Given the description of an element on the screen output the (x, y) to click on. 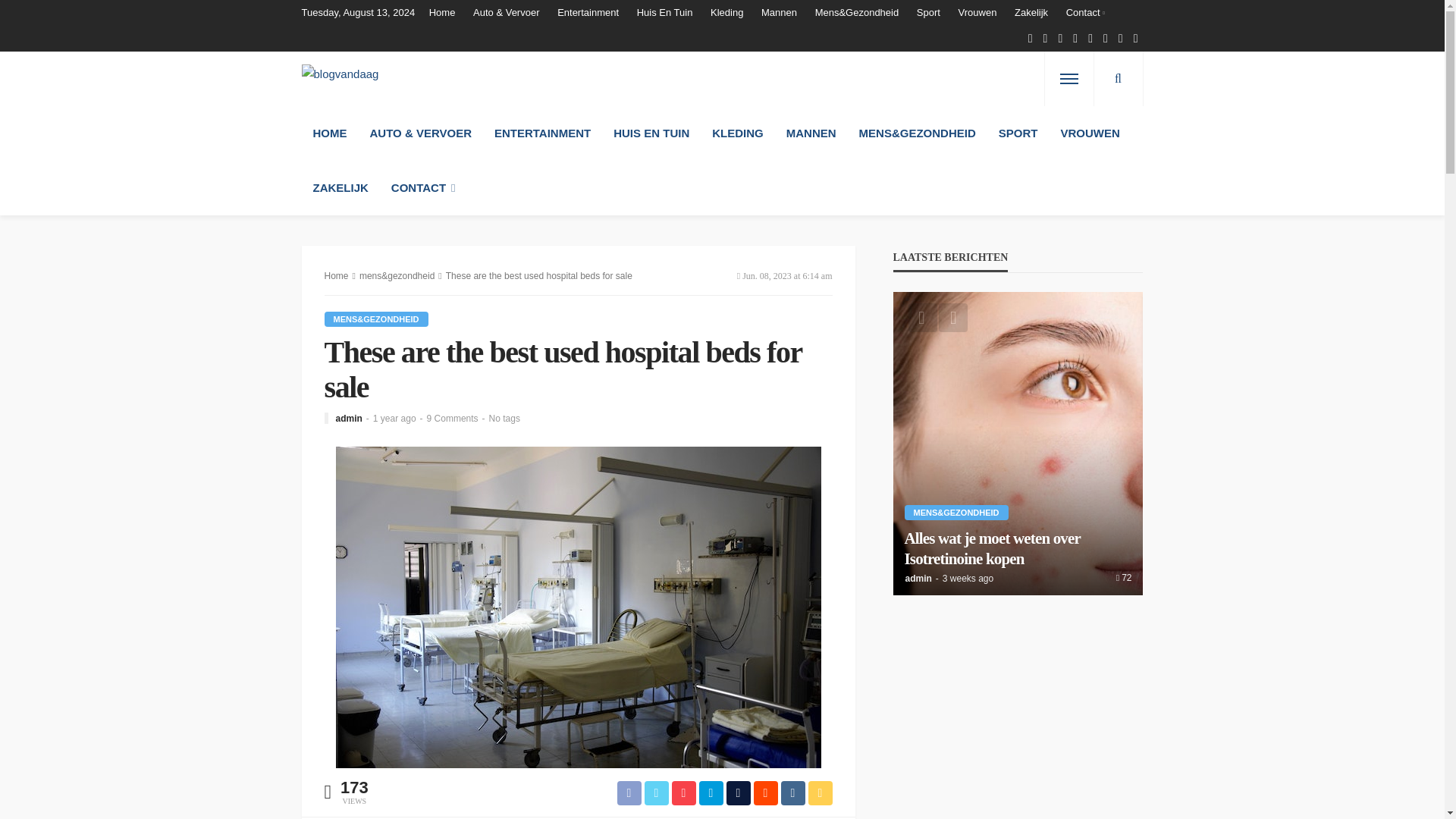
Mannen (779, 12)
Contact (1085, 12)
Vrouwen (977, 12)
These are the best used hospital beds for sale (452, 418)
Entertainment (588, 12)
Kleding (727, 12)
Huis En Tuin (664, 12)
Zakelijk (1031, 12)
Sport (927, 12)
Home (446, 12)
